Given the description of an element on the screen output the (x, y) to click on. 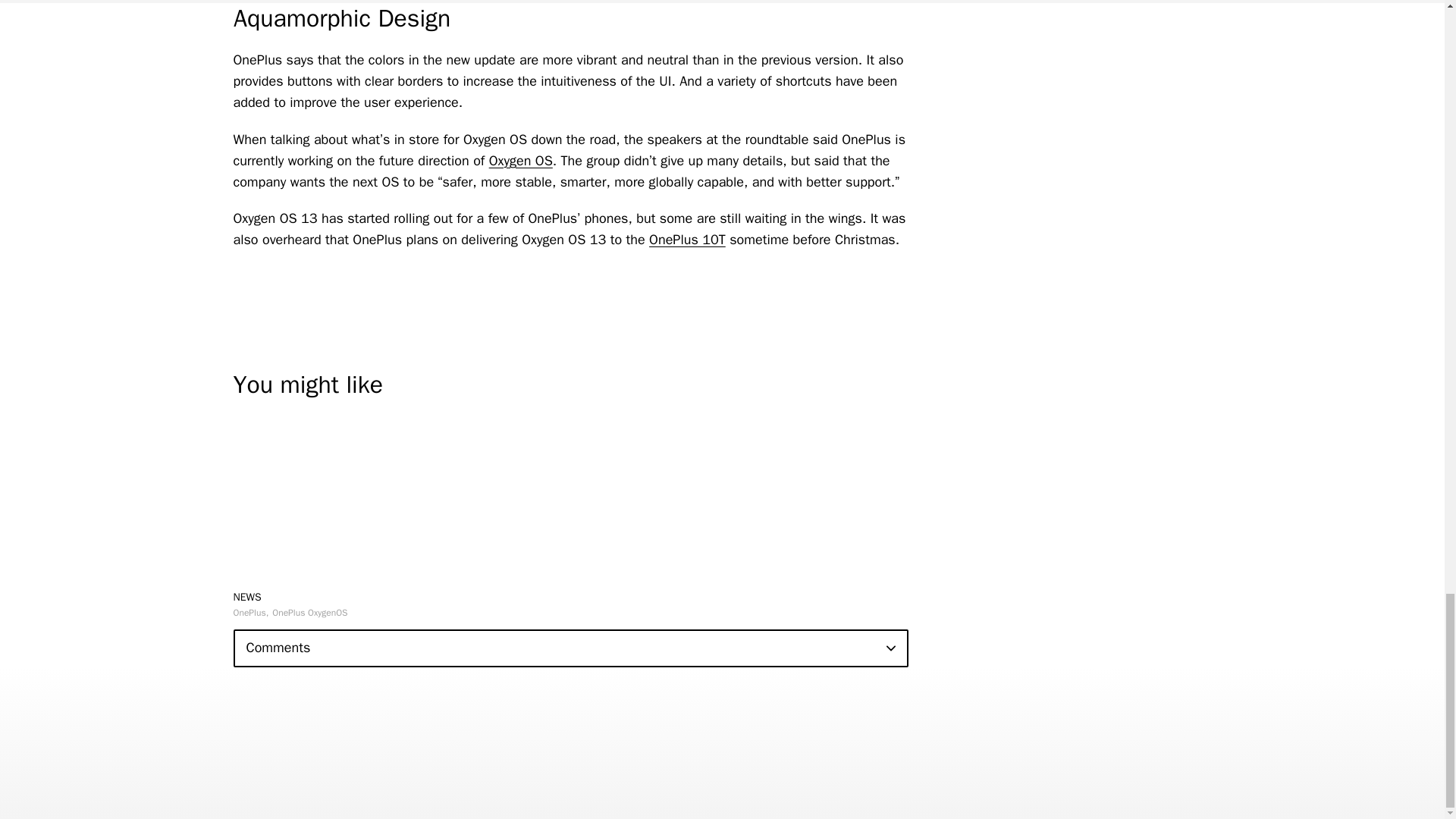
OnePlus (250, 612)
OnePlus 10T (687, 239)
OnePlus OxygenOS (309, 612)
NEWS (247, 596)
Comments (570, 648)
Oxygen OS (521, 160)
